Given the description of an element on the screen output the (x, y) to click on. 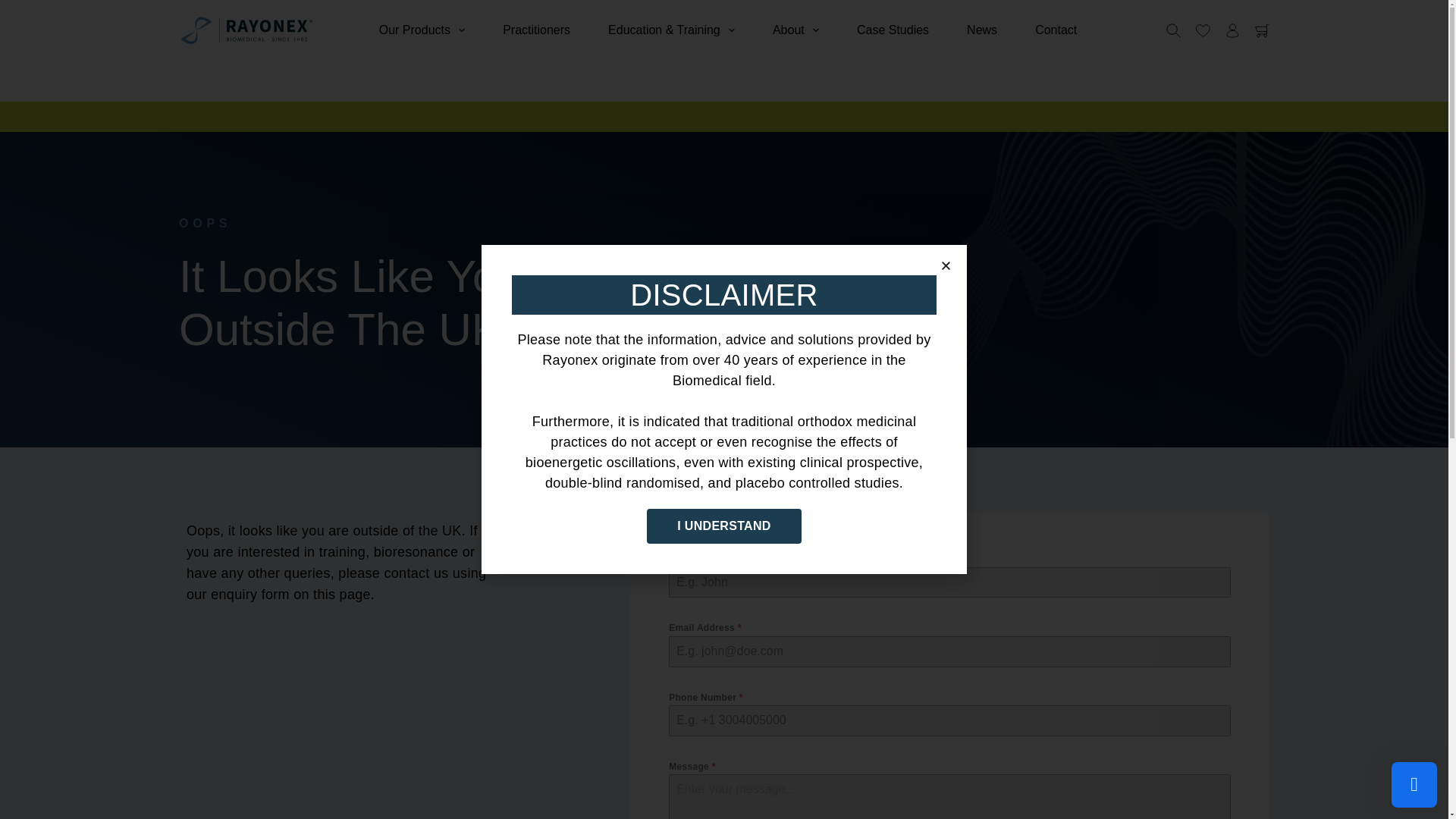
Dismiss (1414, 20)
Our Products (421, 30)
Skip to content (15, 7)
